Given the description of an element on the screen output the (x, y) to click on. 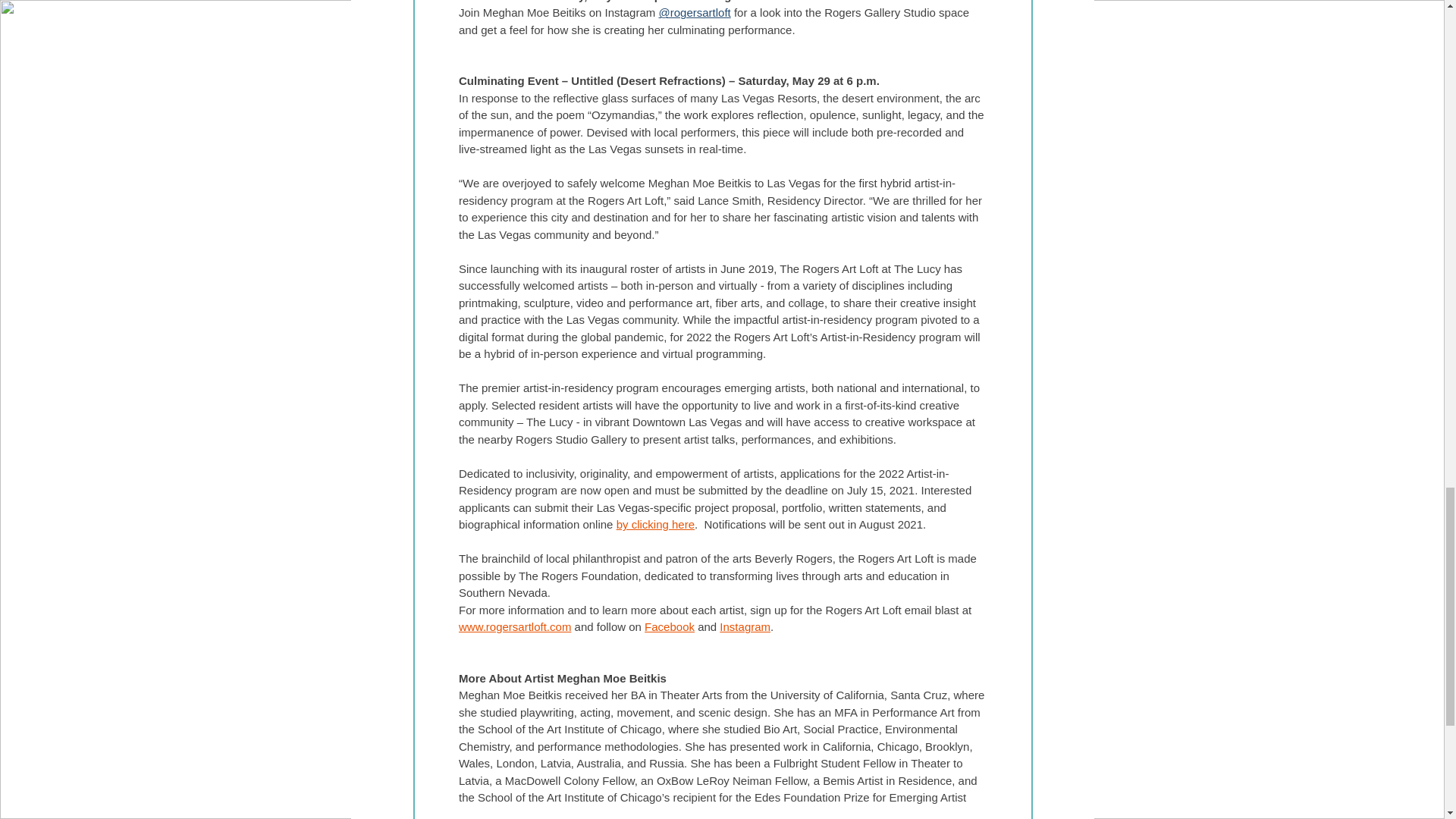
www.rogersartloft.com (514, 626)
Facebook (669, 626)
by clicking here (654, 523)
Instagram (744, 626)
